Given the description of an element on the screen output the (x, y) to click on. 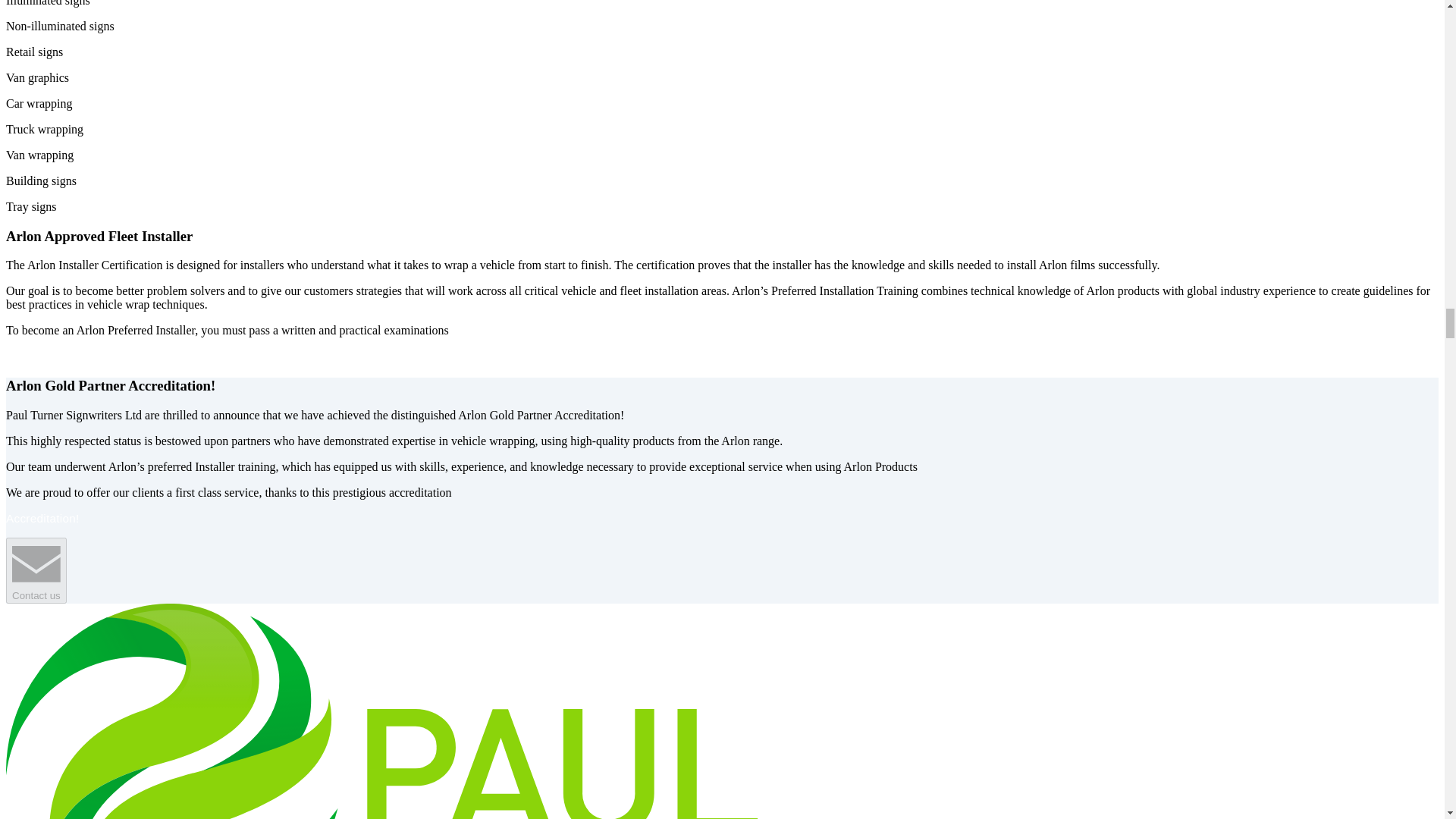
Contact us (35, 570)
